Given the description of an element on the screen output the (x, y) to click on. 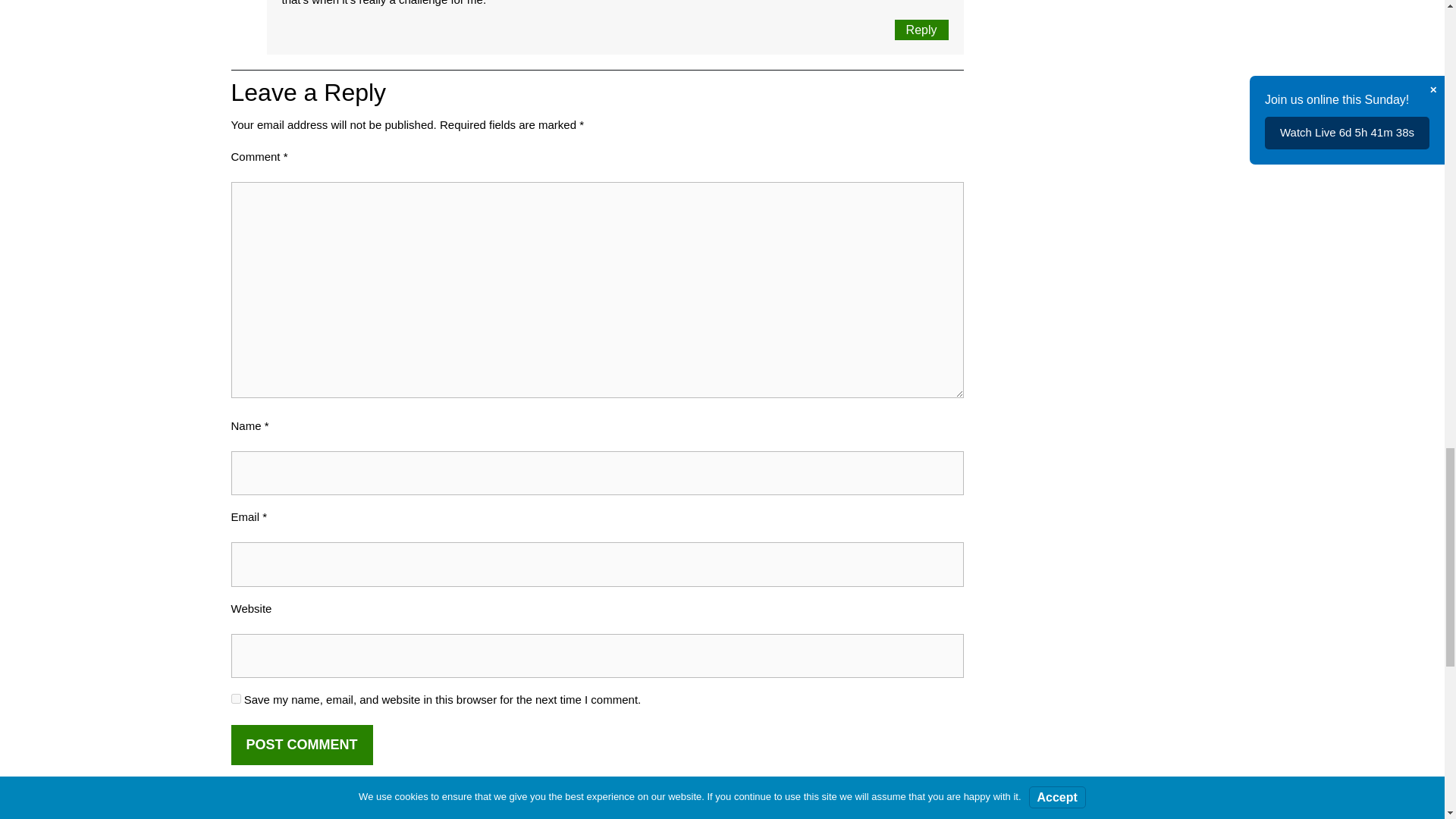
Post Comment (301, 744)
yes (235, 698)
